Given the description of an element on the screen output the (x, y) to click on. 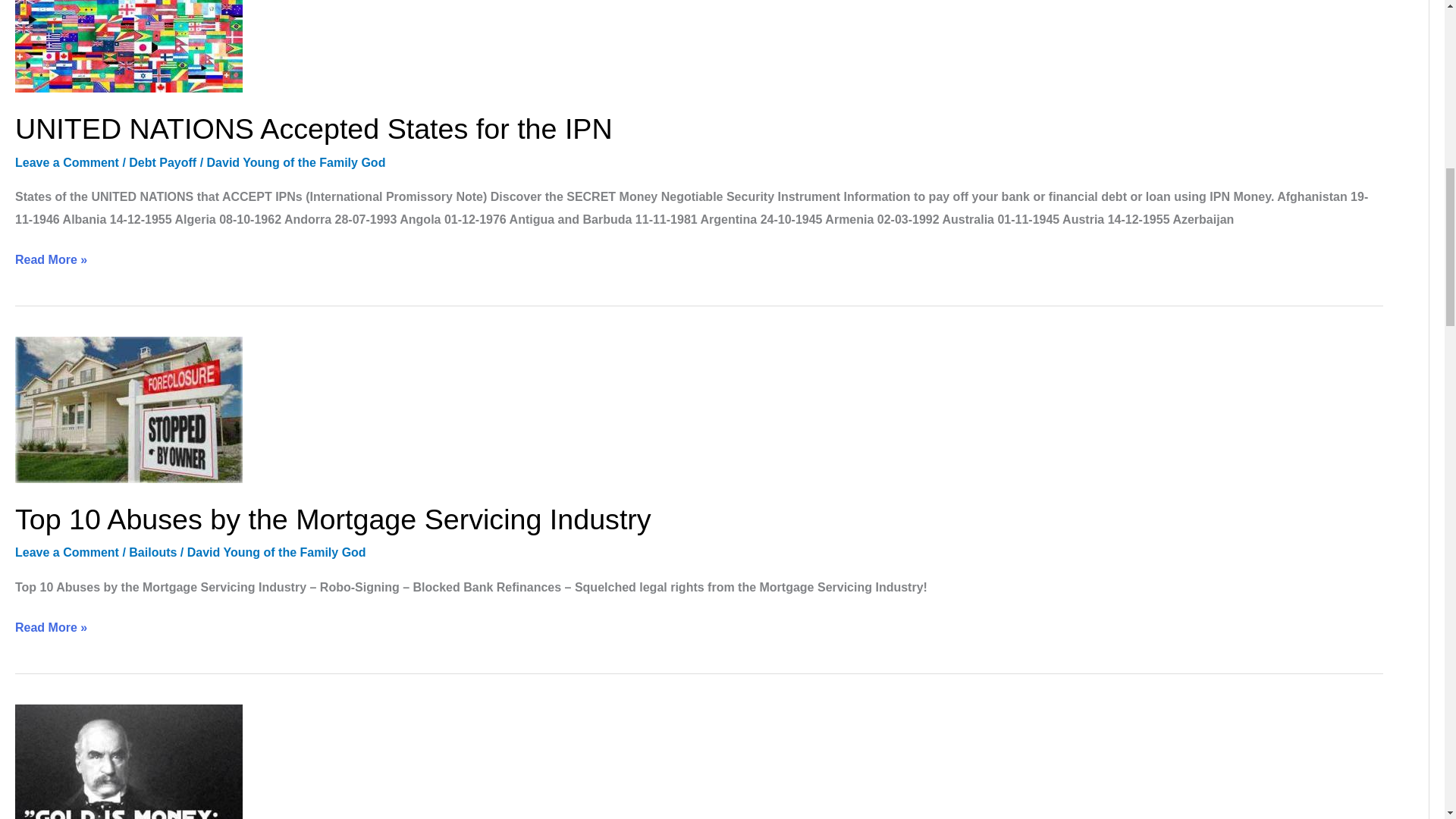
Leave a Comment (66, 162)
Top 10 Abuses by the Mortgage Servicing Industry (332, 519)
Leave a Comment (66, 552)
View all posts by David Young of the Family God (295, 162)
David Young of the Family God (295, 162)
David Young of the Family God (276, 552)
UNITED NATIONS Accepted States for the IPN (313, 128)
Bailouts (152, 552)
View all posts by David Young of the Family God (276, 552)
Debt Payoff (162, 162)
